Given the description of an element on the screen output the (x, y) to click on. 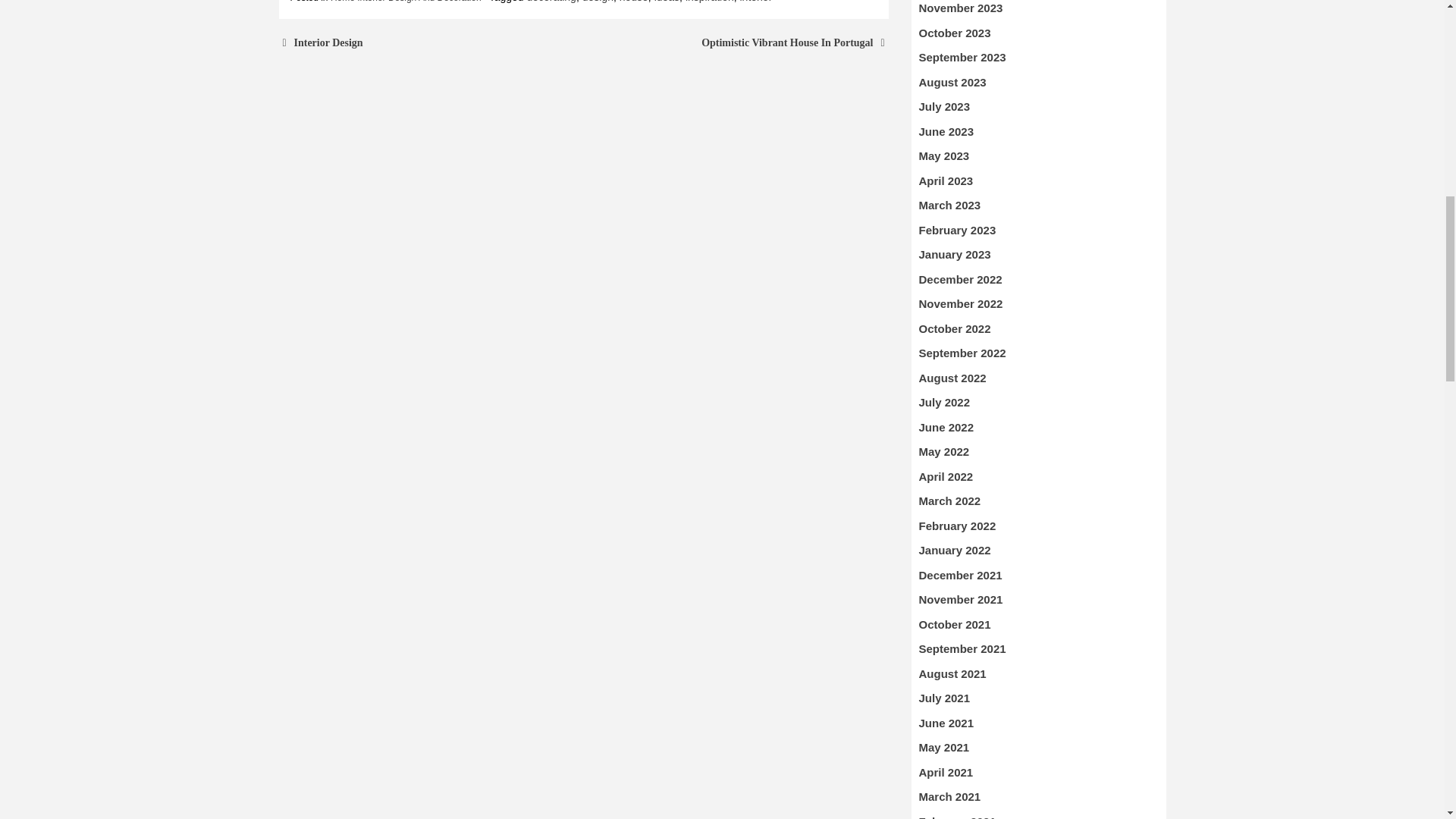
ideas (666, 1)
Optimistic Vibrant House In Portugal (786, 42)
interior (756, 1)
design (597, 1)
decorating (550, 1)
Home Interior Design And Decoration (405, 1)
house (633, 1)
inspiration (709, 1)
Interior Design (328, 42)
November 2023 (960, 7)
